Given the description of an element on the screen output the (x, y) to click on. 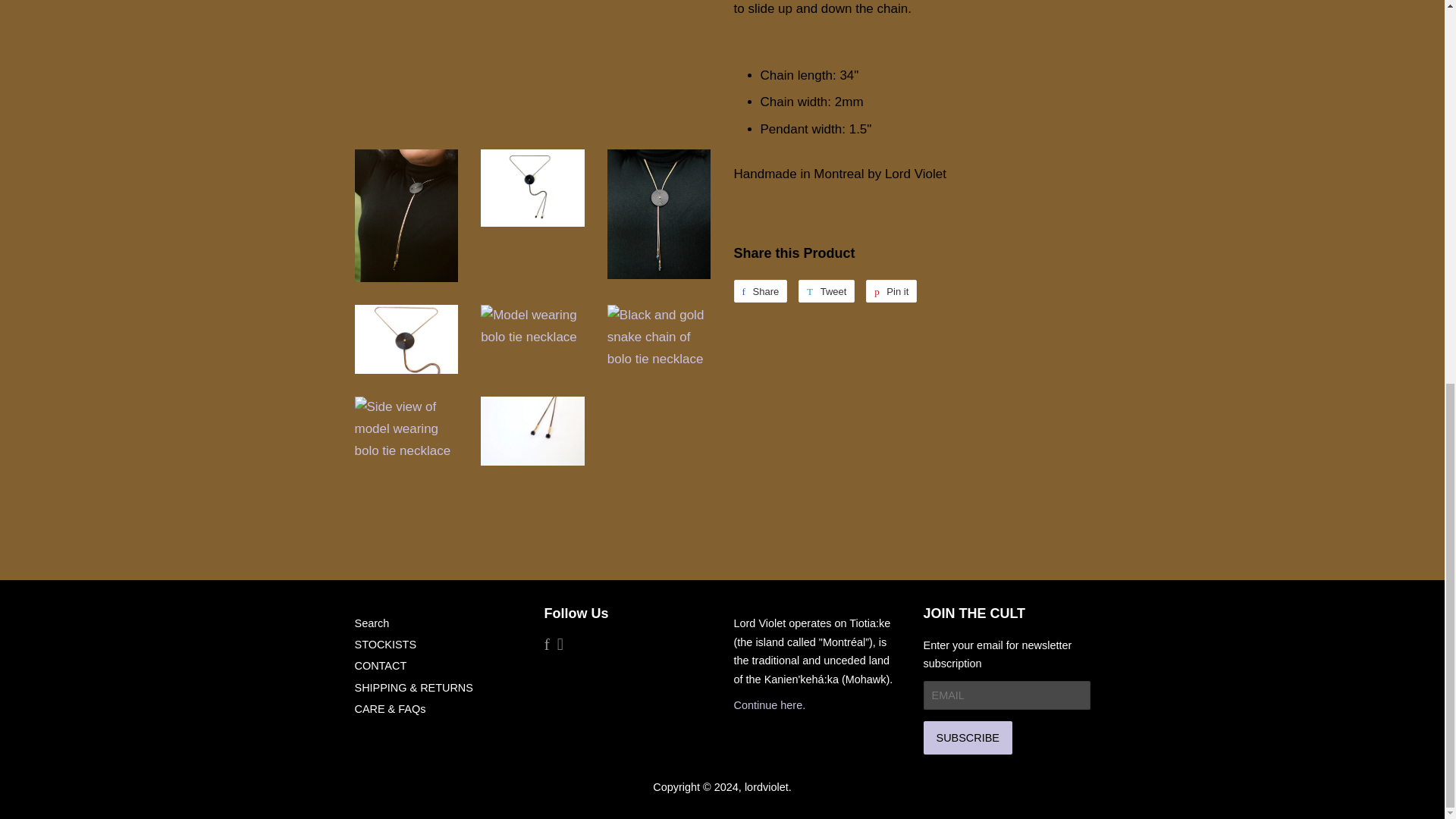
About (769, 705)
Pin on Pinterest (891, 290)
Share on Facebook (760, 290)
Tweet on Twitter (825, 290)
lordviolet on Instagram (560, 645)
lordviolet on Facebook (547, 645)
Subscribe (967, 737)
